Given the description of an element on the screen output the (x, y) to click on. 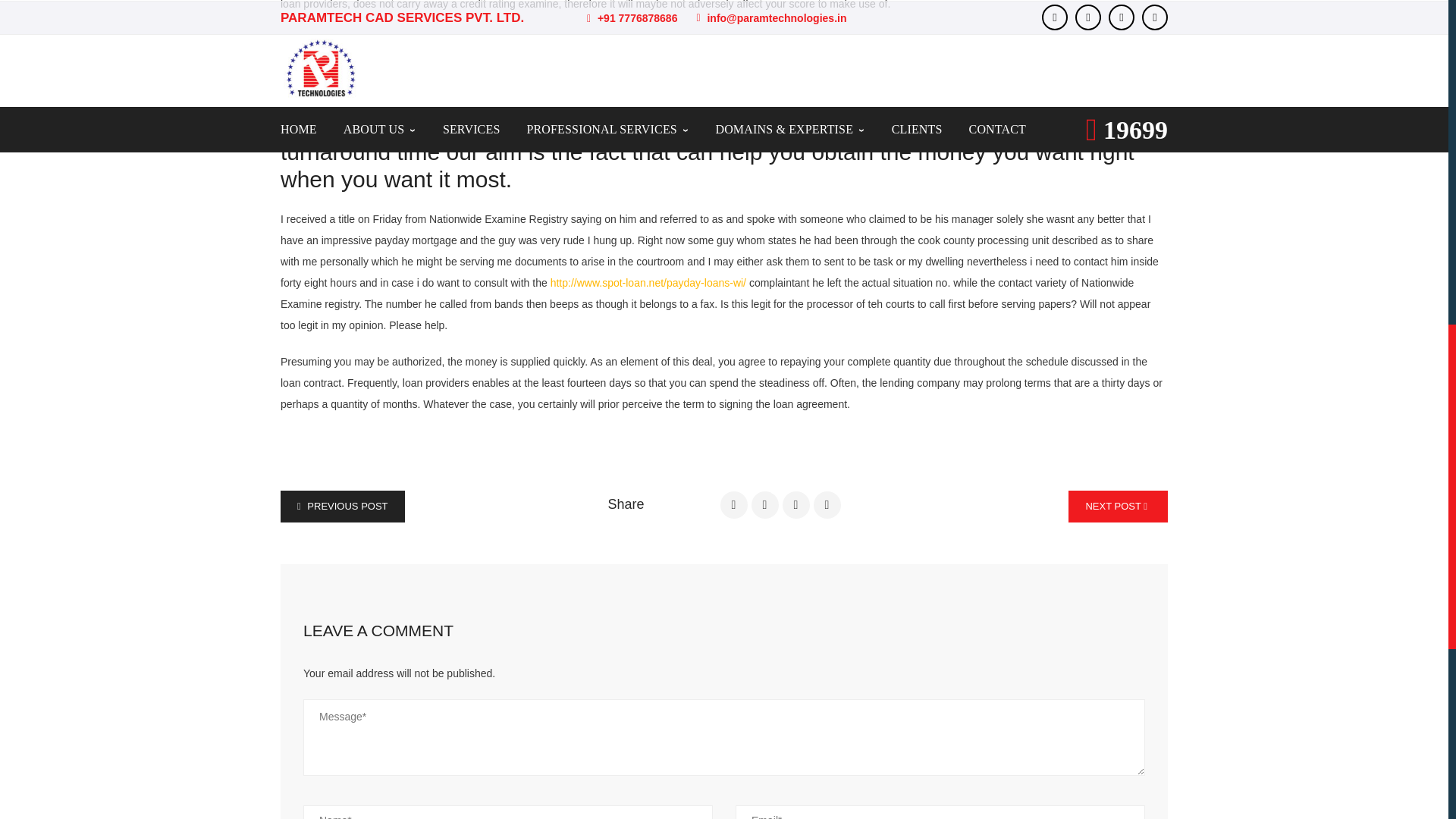
Share on Facebook (734, 504)
Share on Twitter (764, 504)
Share on Linkedin (827, 504)
